Given the description of an element on the screen output the (x, y) to click on. 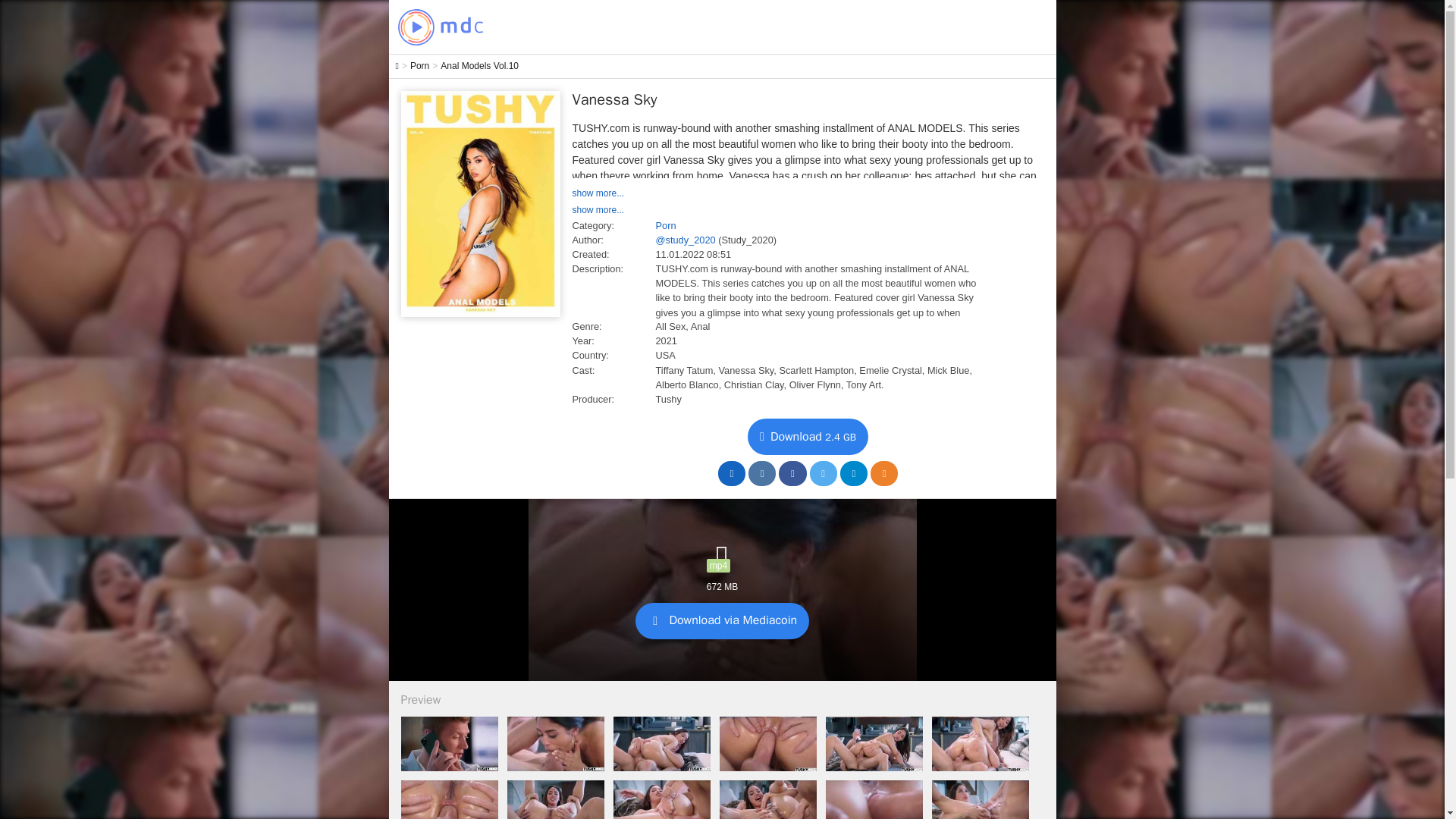
show more... (598, 193)
show more... (598, 209)
Porn (419, 66)
Porn (665, 225)
Anal Models Vol.10 (479, 66)
